Given the description of an element on the screen output the (x, y) to click on. 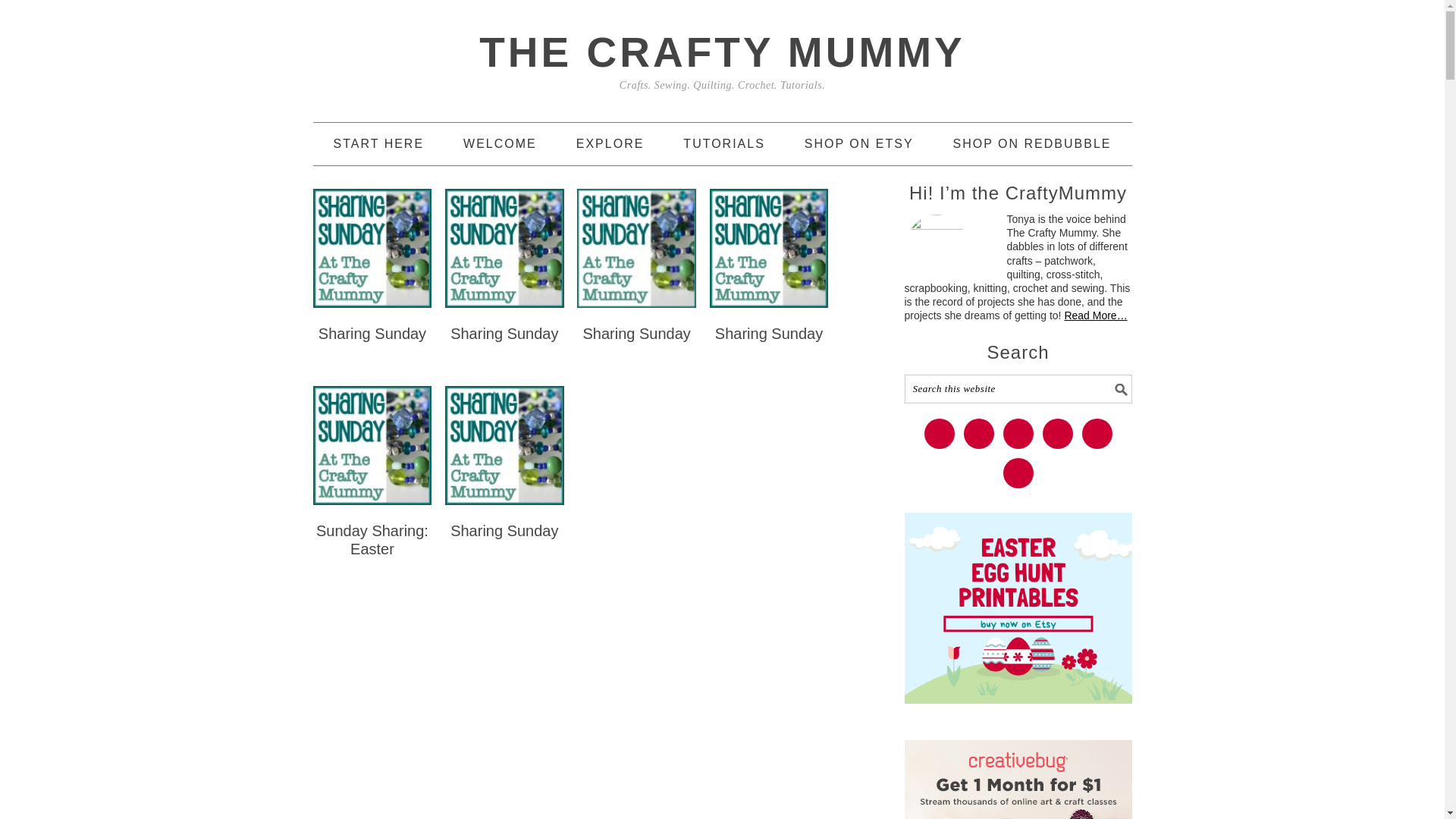
TUTORIALS (723, 143)
EXPLORE (610, 143)
WELCOME (500, 143)
THE CRAFTY MUMMY (721, 52)
SHOP ON ETSY (859, 143)
SHOP ON REDBUBBLE (1032, 143)
Sharing Sunday (372, 333)
START HERE (379, 143)
